Given the description of an element on the screen output the (x, y) to click on. 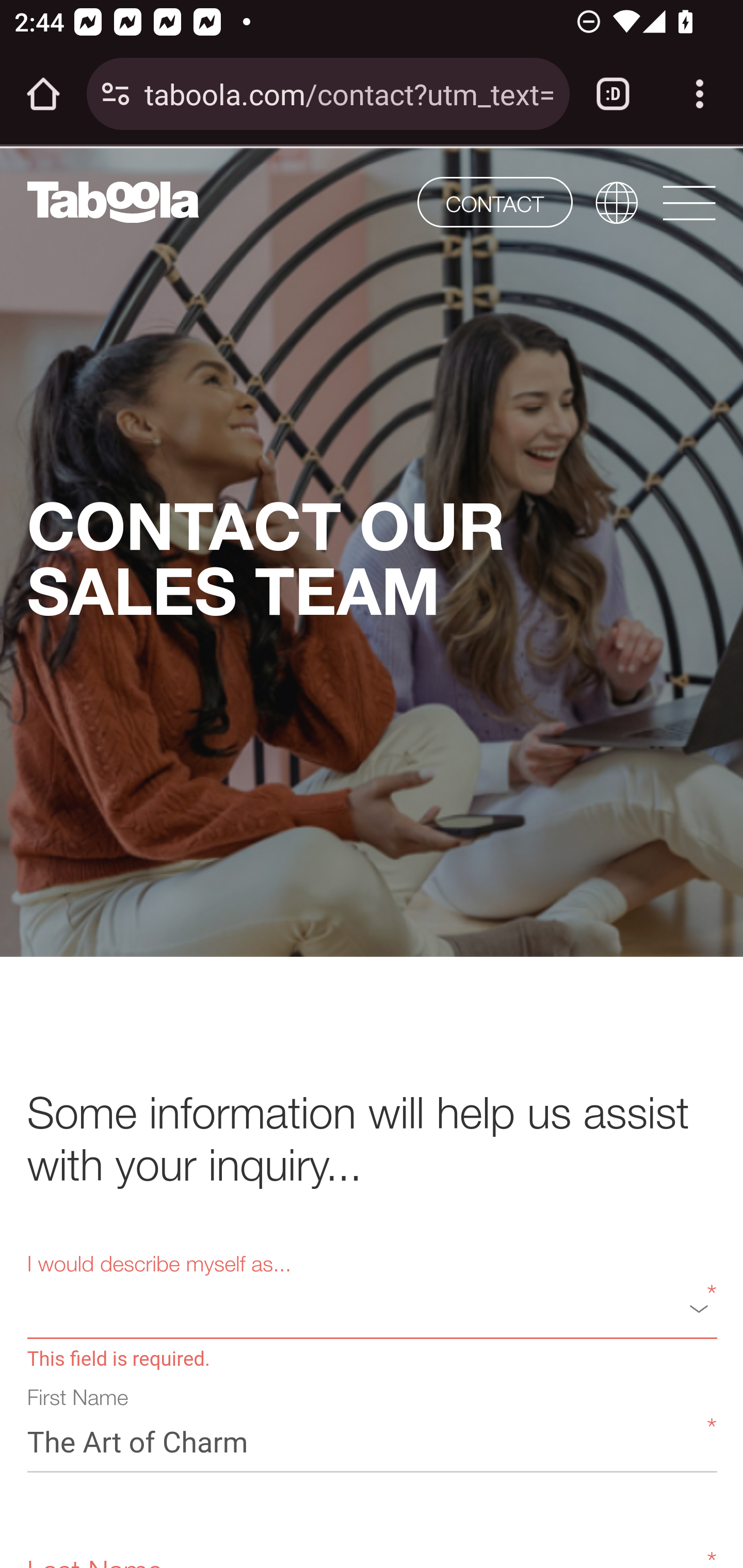
Open the home page (43, 93)
Connection is secure (115, 93)
Switch or close tabs (612, 93)
Customize and control Google Chrome (699, 93)
